Given the description of an element on the screen output the (x, y) to click on. 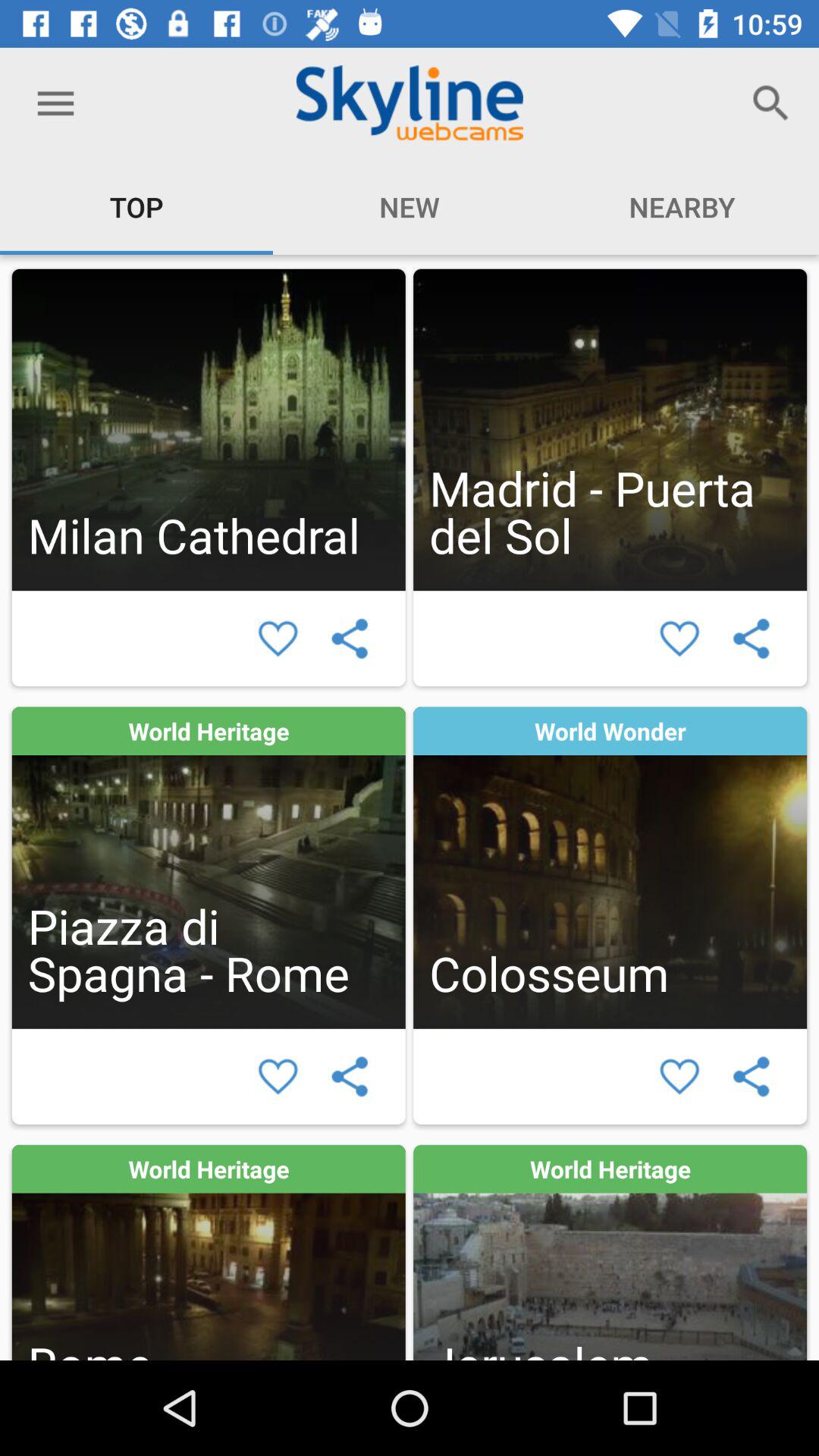
connect to others (751, 638)
